Given the description of an element on the screen output the (x, y) to click on. 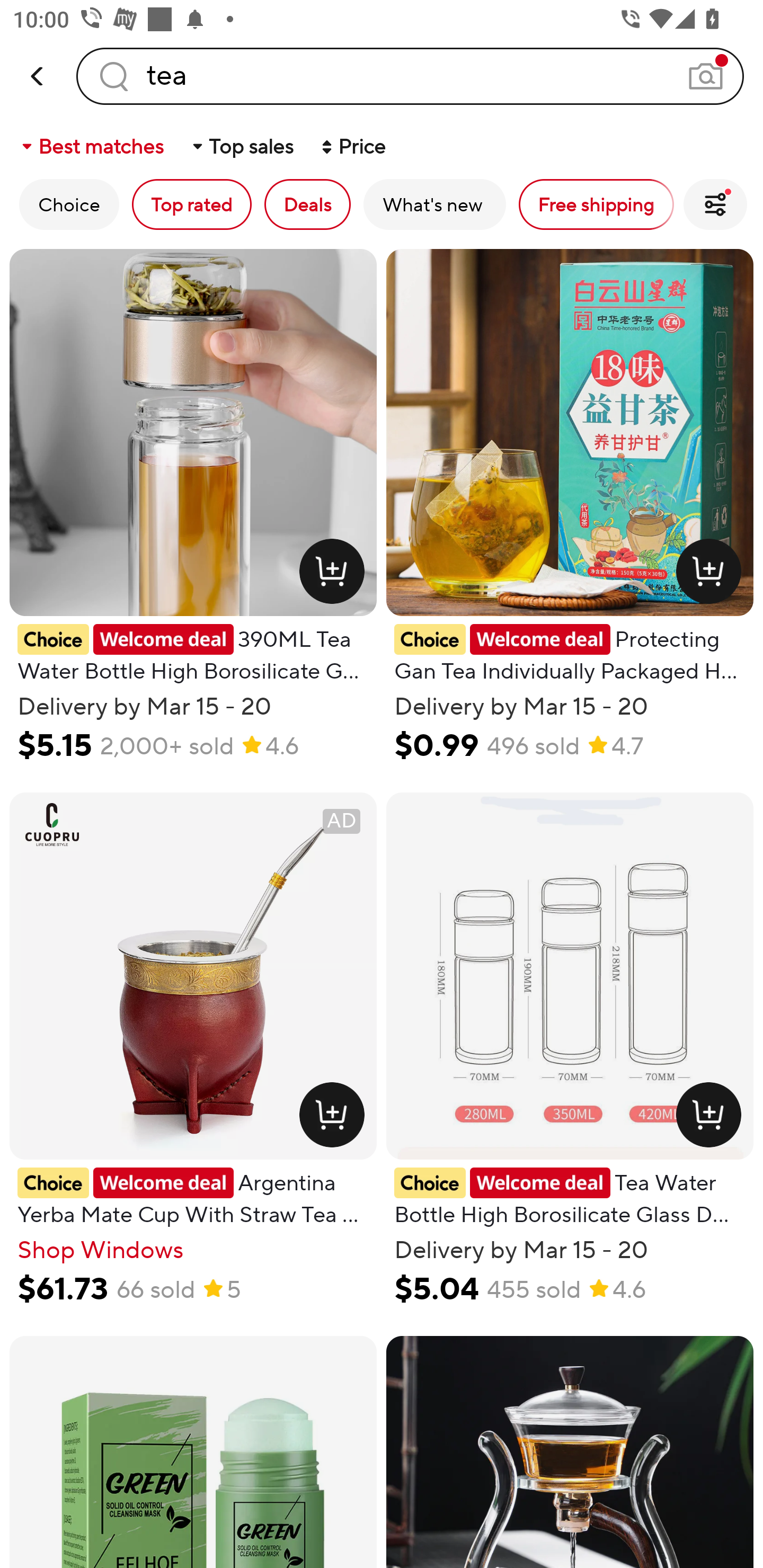
back (38, 75)
tea Search query (409, 76)
tea Search query (409, 76)
Best matches (91, 146)
Top sales (241, 146)
Price (352, 146)
Choice (69, 204)
Top rated (191, 204)
Deals (307, 204)
What's new  (434, 204)
Free shipping (595, 204)
